Given the description of an element on the screen output the (x, y) to click on. 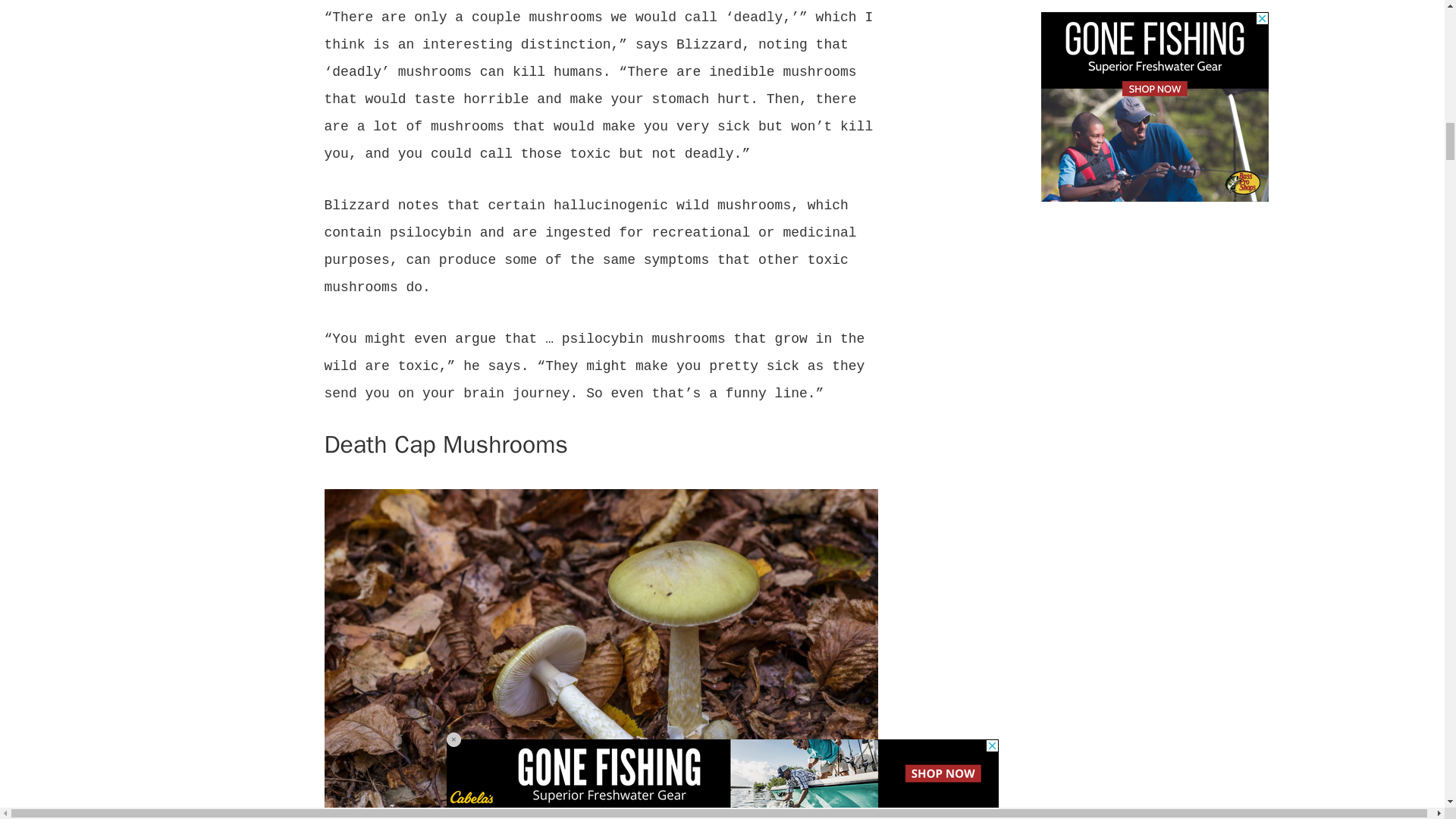
3rd party ad content (1154, 83)
